Given the description of an element on the screen output the (x, y) to click on. 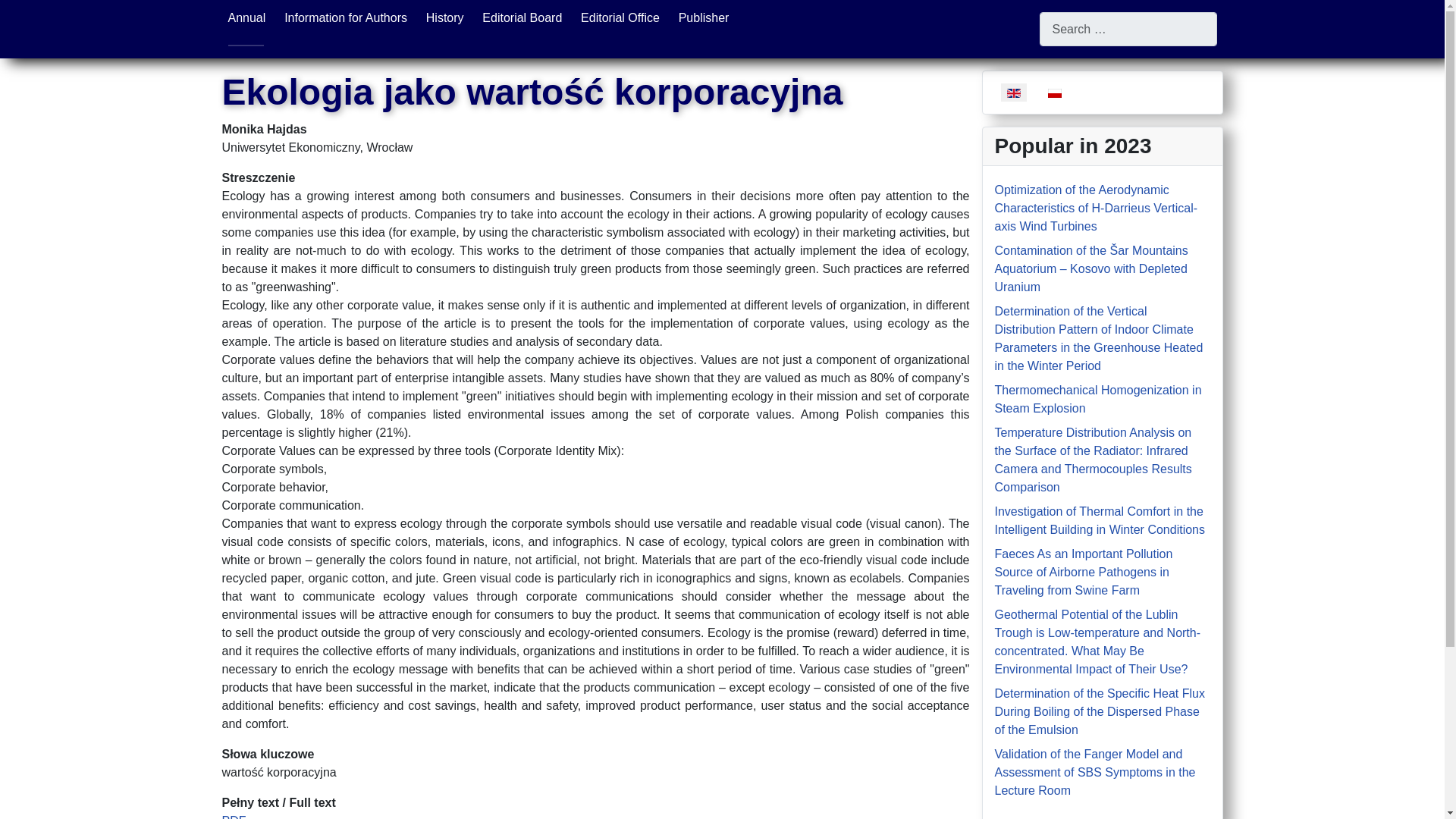
Annual (245, 17)
Editorial Board (521, 17)
PDF (233, 816)
Thermomechanical Homogenization in Steam Explosion (1098, 399)
Annual (245, 17)
Publisher (703, 17)
Information for Authors (345, 17)
Editorial Office (619, 17)
